Given the description of an element on the screen output the (x, y) to click on. 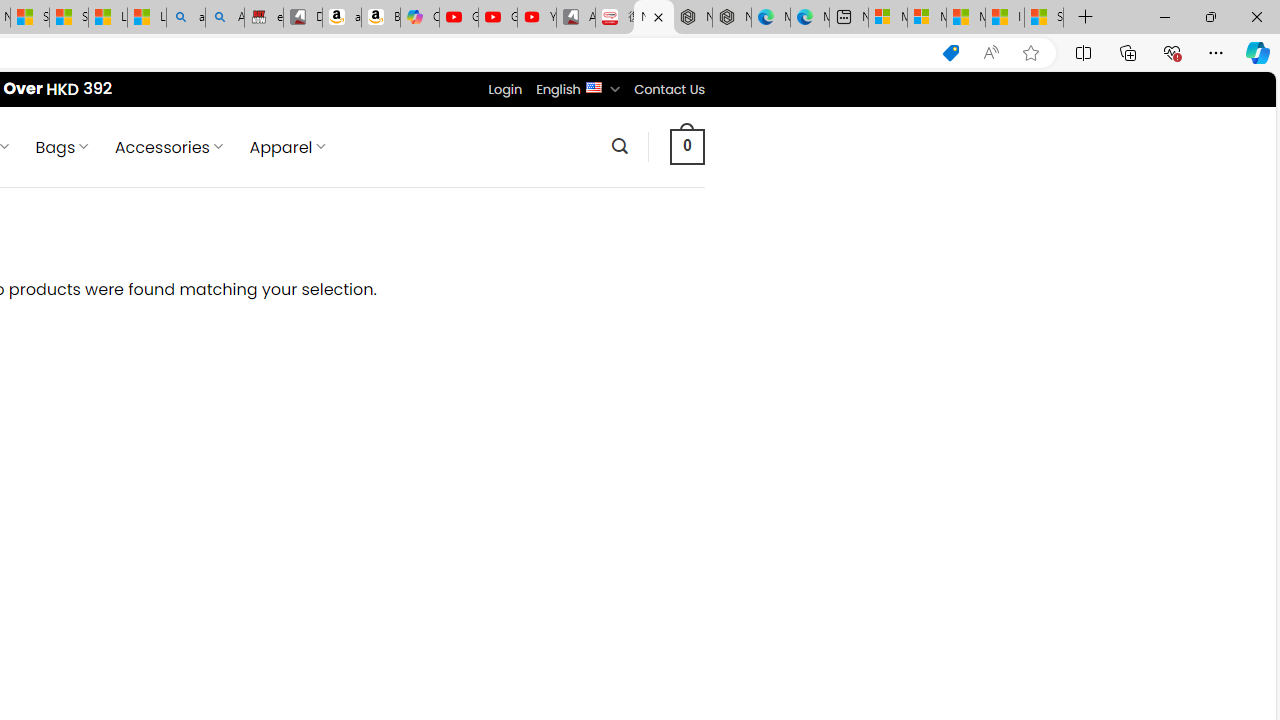
Search (619, 146)
Settings and more (Alt+F) (1215, 52)
Microsoft account | Privacy (926, 17)
Gloom - YouTube (497, 17)
New Tab (1085, 17)
